Given the description of an element on the screen output the (x, y) to click on. 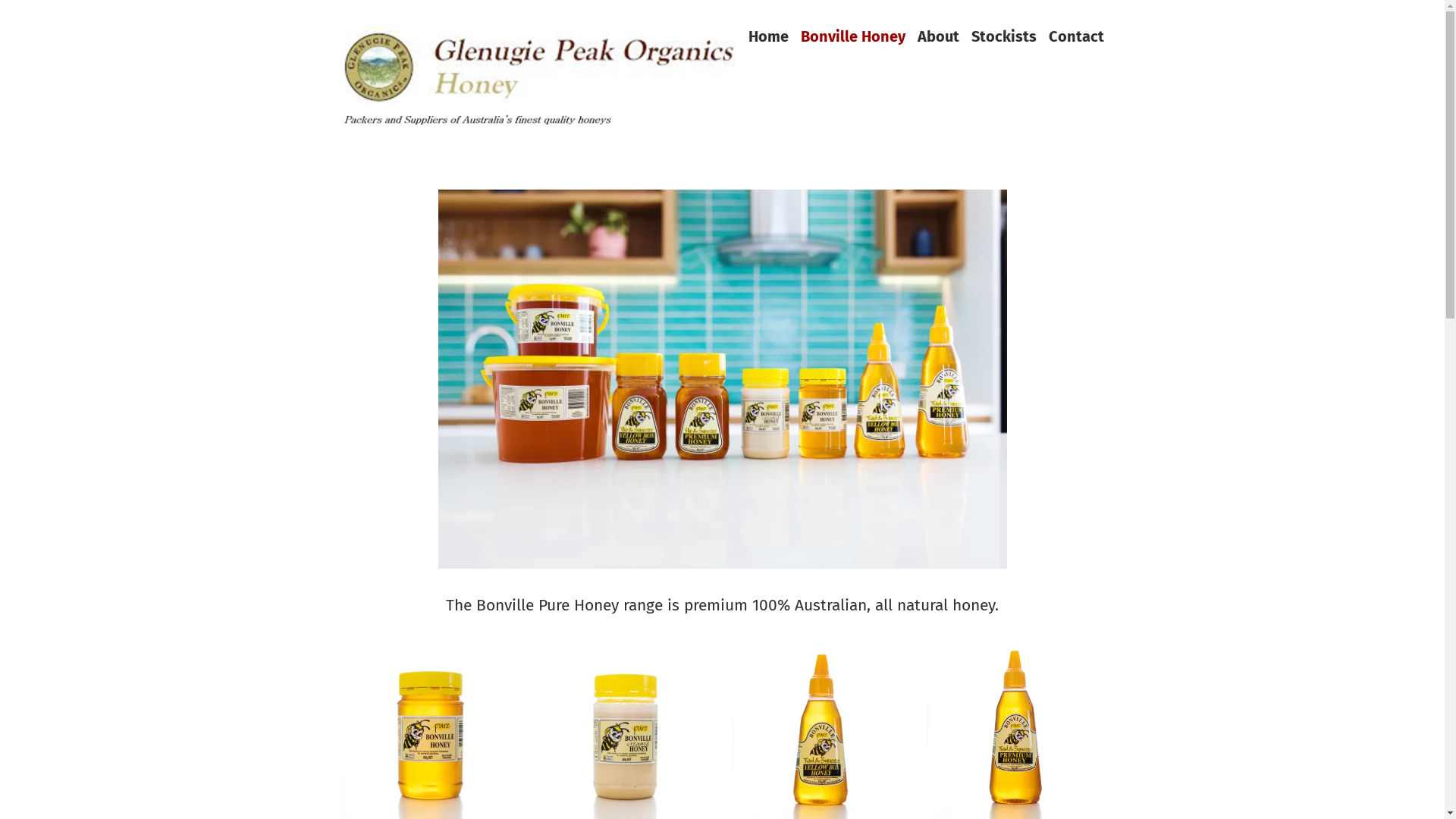
Contact Element type: text (1075, 35)
About Element type: text (938, 35)
Home Element type: text (767, 35)
Stockists Element type: text (1002, 35)
Bonville Honey Element type: text (852, 35)
